Given the description of an element on the screen output the (x, y) to click on. 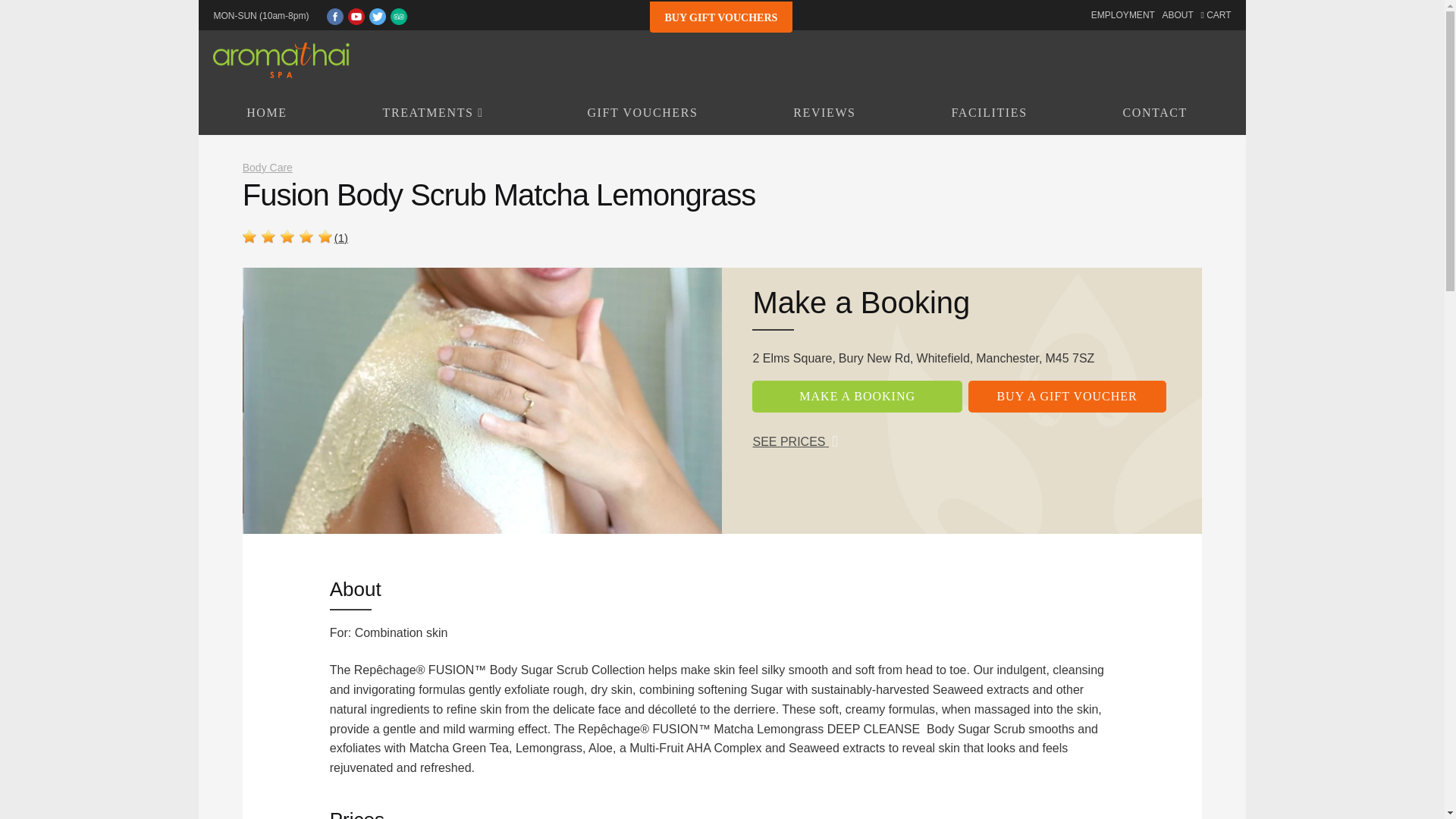
BUY GIFT VOUCHERS (720, 16)
SEE PRICES (795, 440)
TREATMENTS (437, 112)
EMPLOYMENT (1122, 14)
CART (1214, 14)
HOME (266, 112)
ABOUT (1176, 14)
